Given the description of an element on the screen output the (x, y) to click on. 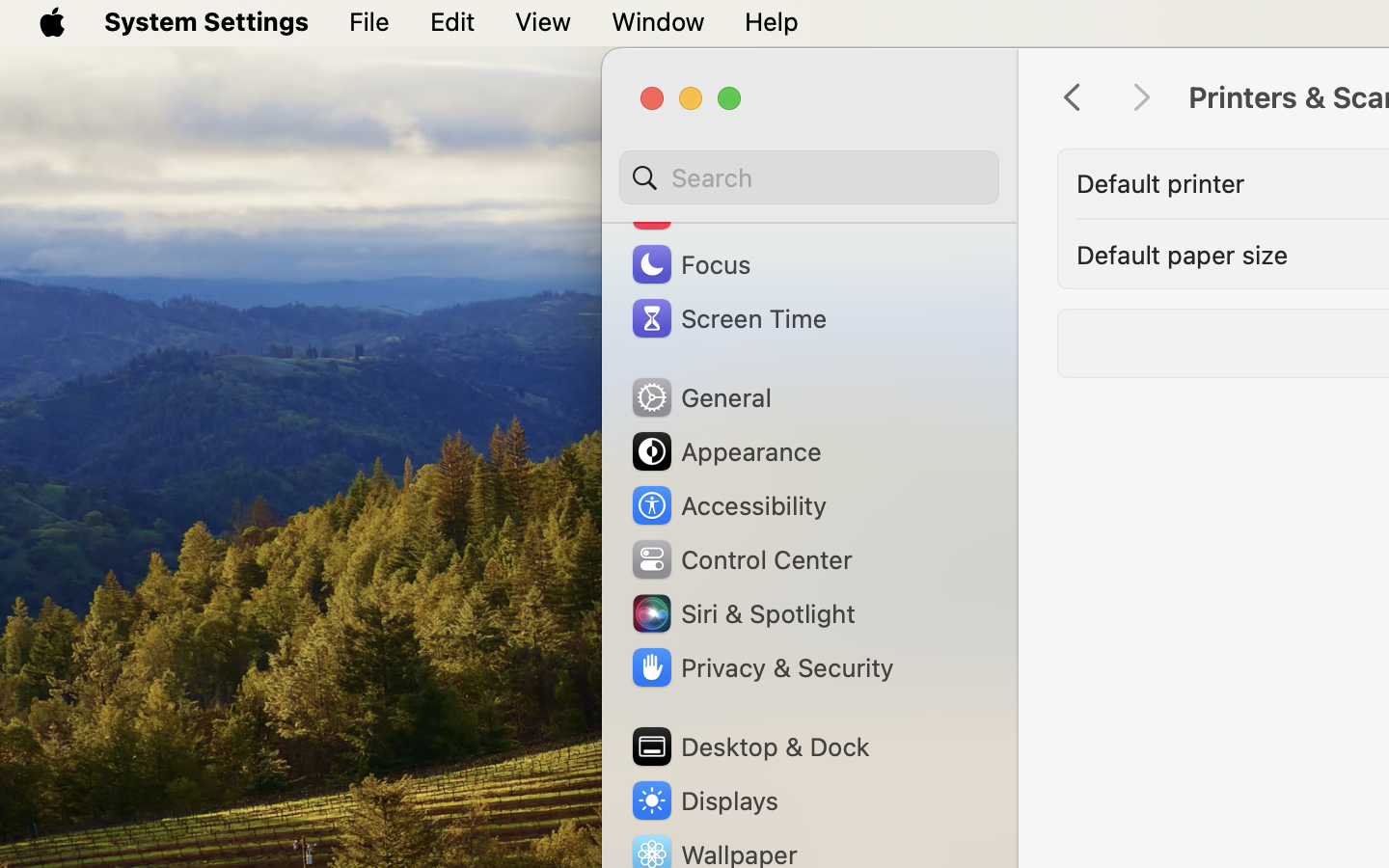
General Element type: AXStaticText (699, 397)
Privacy & Security Element type: AXStaticText (760, 667)
Sound Element type: AXStaticText (692, 210)
Control Center Element type: AXStaticText (740, 559)
Screen Time Element type: AXStaticText (727, 318)
